Given the description of an element on the screen output the (x, y) to click on. 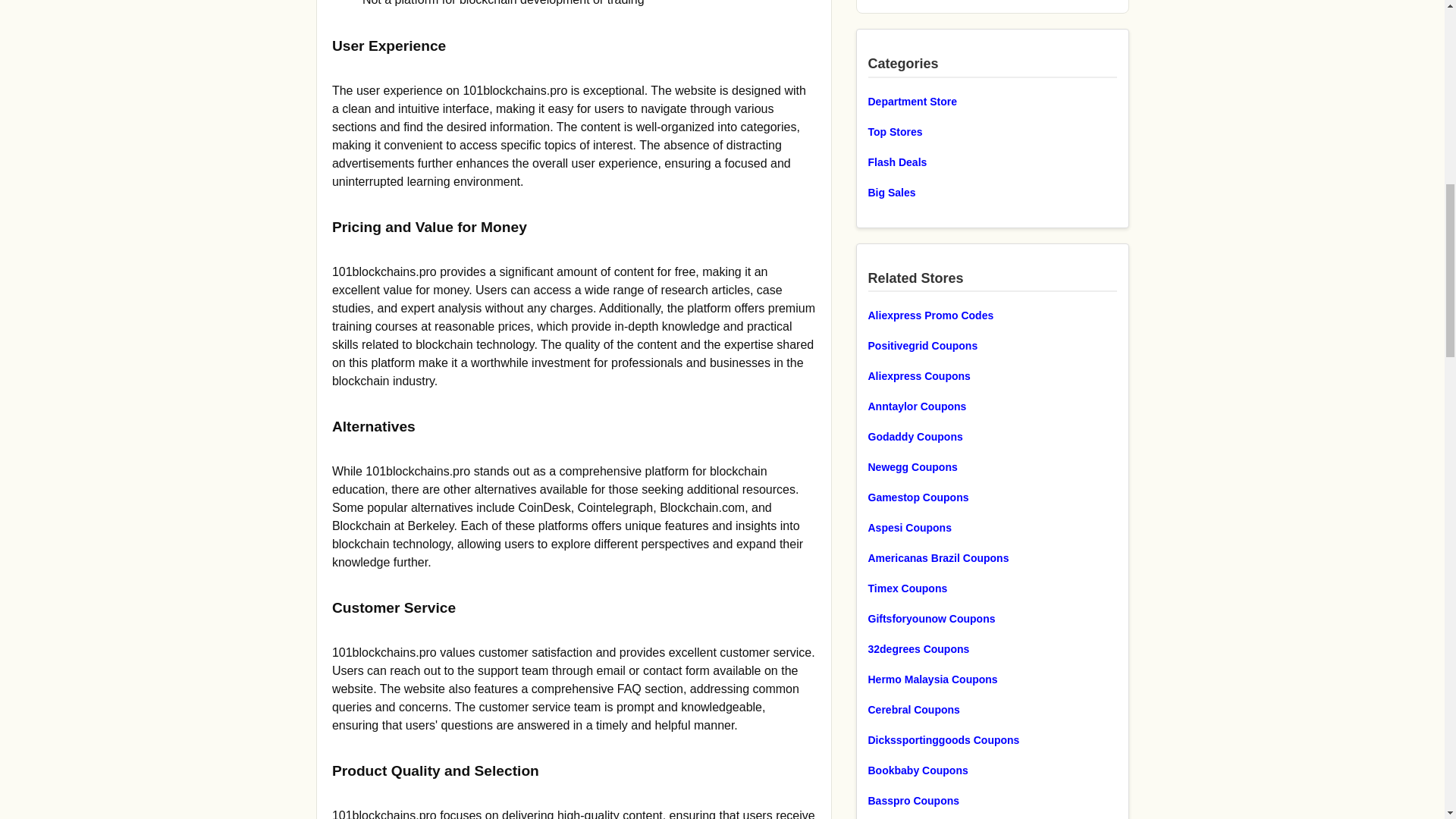
Anntaylor Coupons (991, 405)
Newegg Coupons (991, 466)
Flash Deals (991, 160)
Top Stores (991, 130)
Positivegrid Coupons (991, 345)
Aliexpress Coupons (991, 375)
Aliexpress Promo Codes (991, 314)
Godaddy Coupons (991, 436)
Department Store (991, 100)
Big Sales (991, 191)
